Given the description of an element on the screen output the (x, y) to click on. 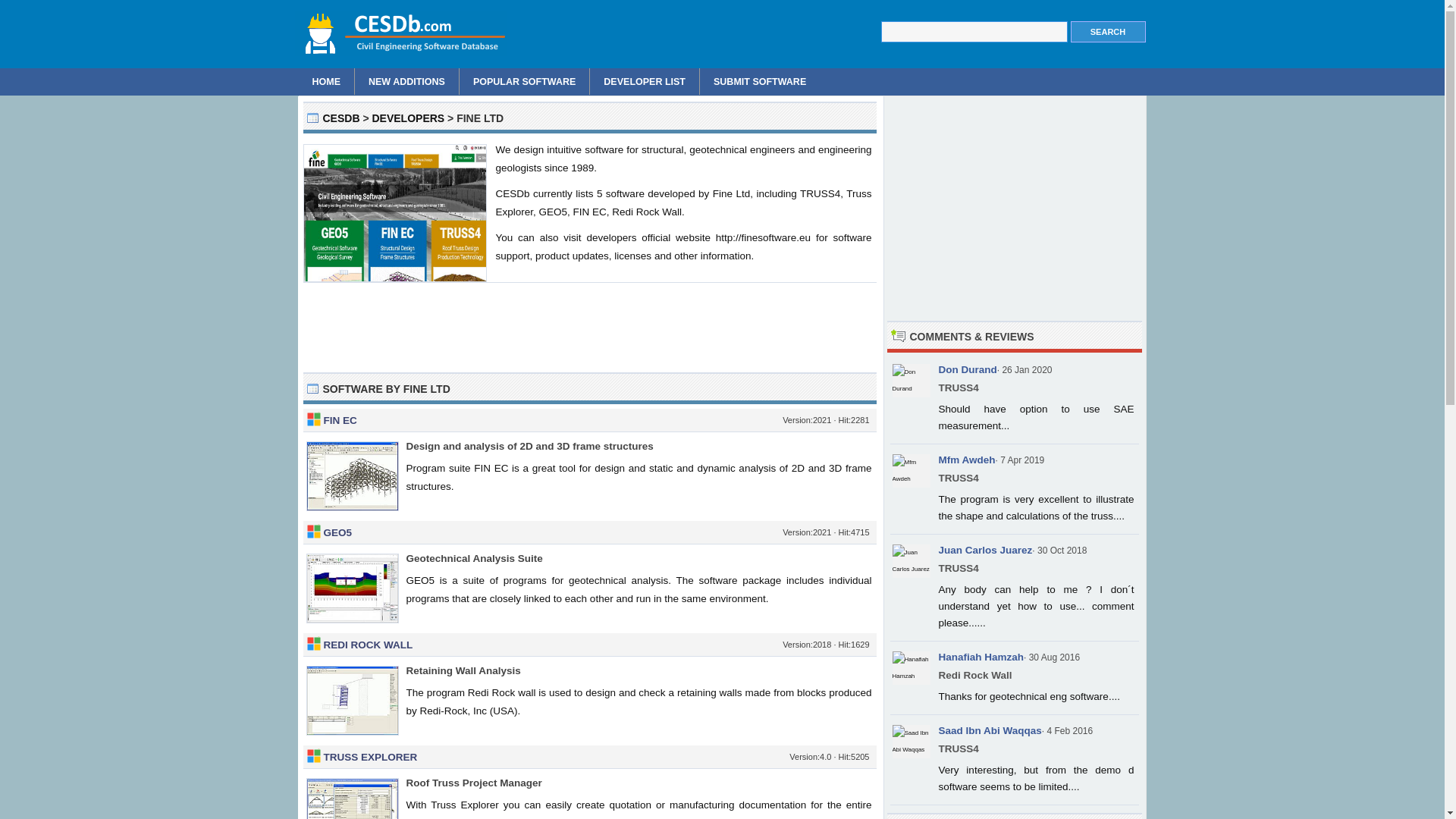
HOME (326, 81)
NEW ADDITIONS (407, 81)
SUBMIT SOFTWARE (759, 81)
Geotechnical Analysis Suite (474, 558)
SEARCH (1107, 31)
DEVELOPERS (407, 118)
SEARCH (1107, 31)
GEO5 (337, 532)
SEARCH (1107, 31)
Design and analysis of 2D and 3D frame structures (529, 446)
Advertisement (589, 327)
REDI ROCK WALL (367, 644)
FIN EC (339, 419)
POPULAR SOFTWARE (524, 81)
DEVELOPER LIST (644, 81)
